Given the description of an element on the screen output the (x, y) to click on. 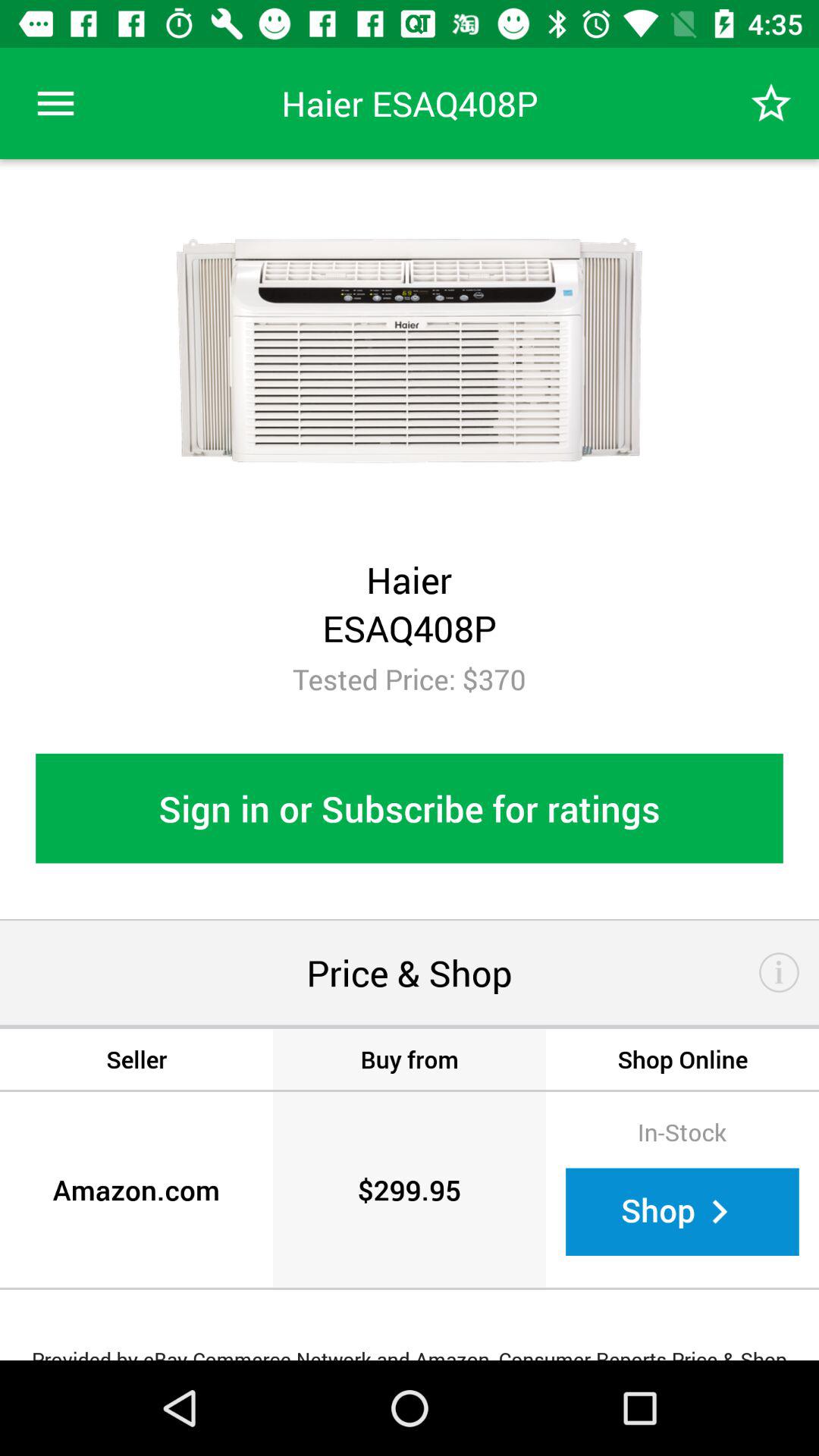
open item below tested price: $370 (409, 808)
